Given the description of an element on the screen output the (x, y) to click on. 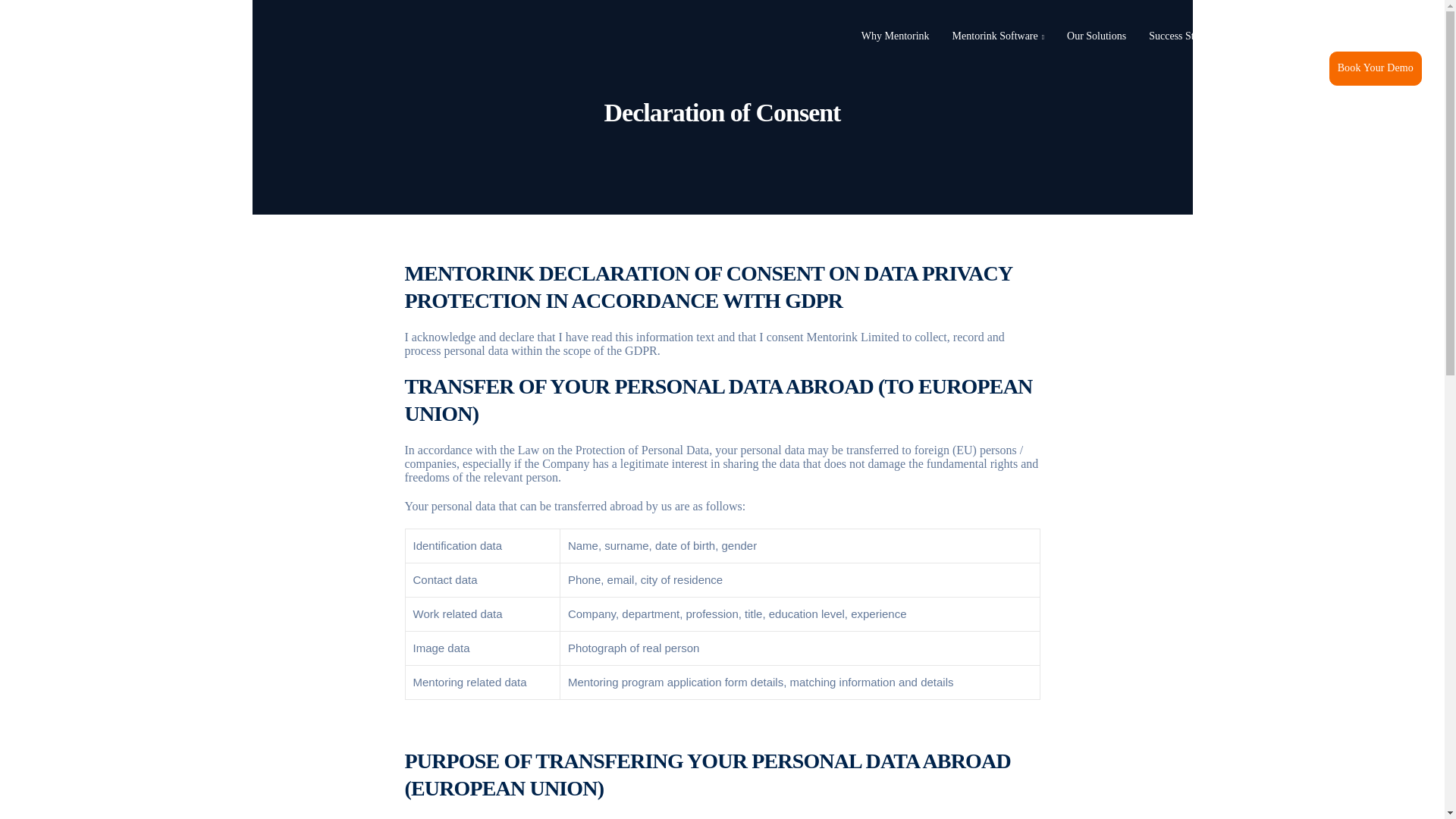
Mentorink Software (997, 36)
Our Solutions (1096, 36)
Success Stories (1181, 36)
Book Your Demo (1375, 68)
Why Mentorink (895, 36)
